Given the description of an element on the screen output the (x, y) to click on. 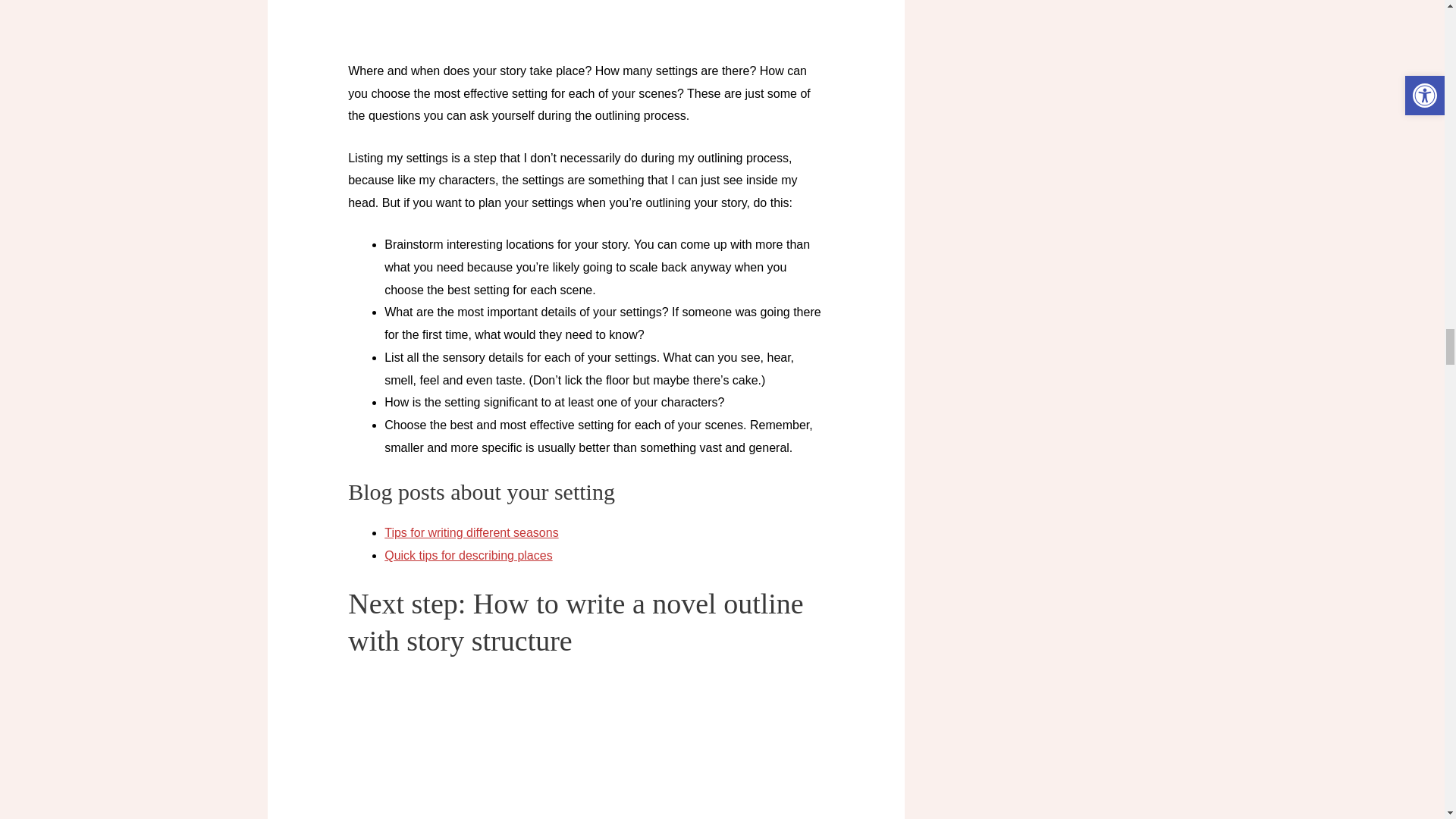
Quick tips for describing places (467, 554)
Tips for writing different seasons (470, 532)
Quick tips for describing places (467, 554)
Tips for writing different seasons (470, 532)
